Given the description of an element on the screen output the (x, y) to click on. 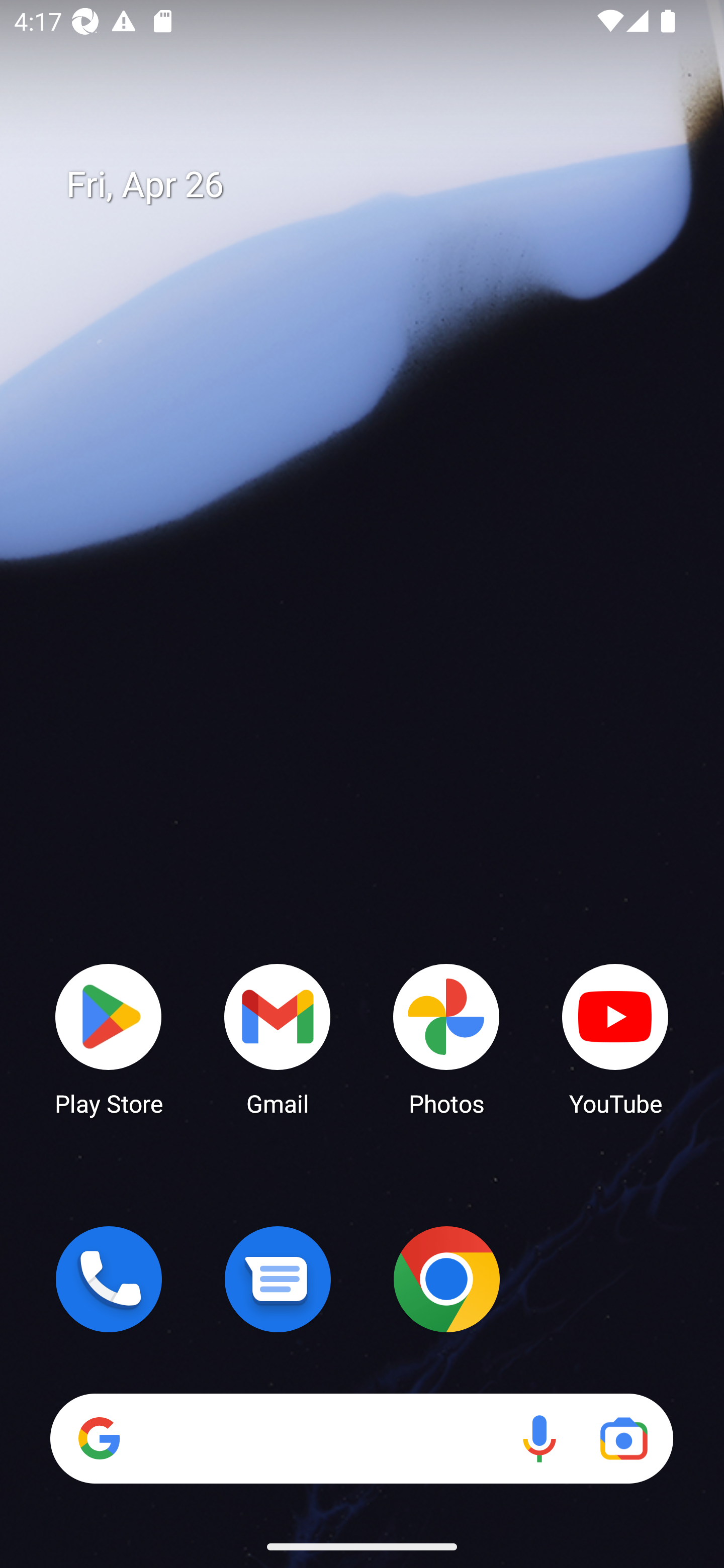
Fri, Apr 26 (375, 184)
Play Store (108, 1038)
Gmail (277, 1038)
Photos (445, 1038)
YouTube (615, 1038)
Phone (108, 1279)
Messages (277, 1279)
Chrome (446, 1279)
Search Voice search Google Lens (361, 1438)
Voice search (539, 1438)
Google Lens (623, 1438)
